Given the description of an element on the screen output the (x, y) to click on. 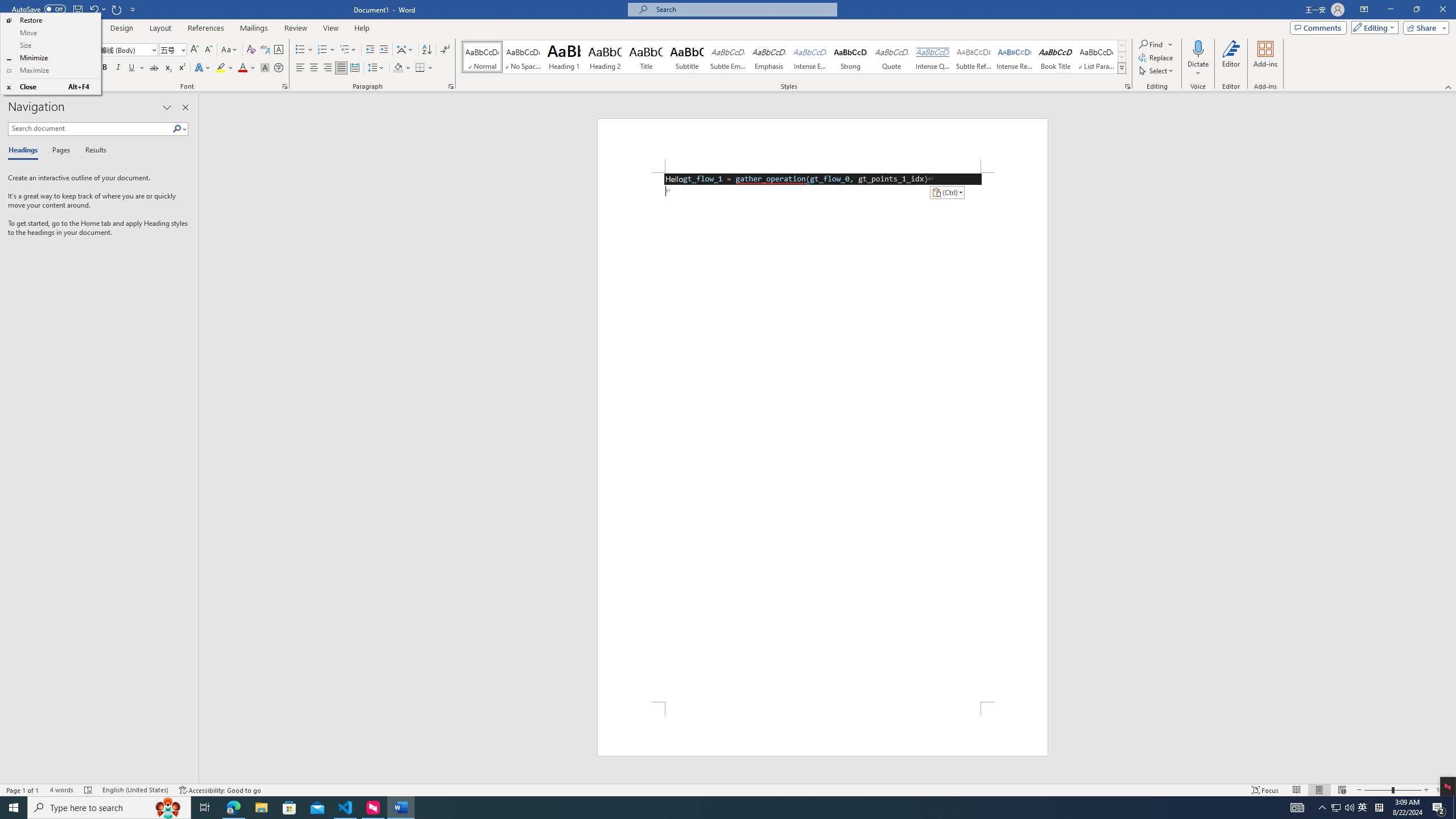
Undo Paste (96, 9)
Intense Reference (1014, 56)
Title (646, 56)
Book Title (1055, 56)
